Given the description of an element on the screen output the (x, y) to click on. 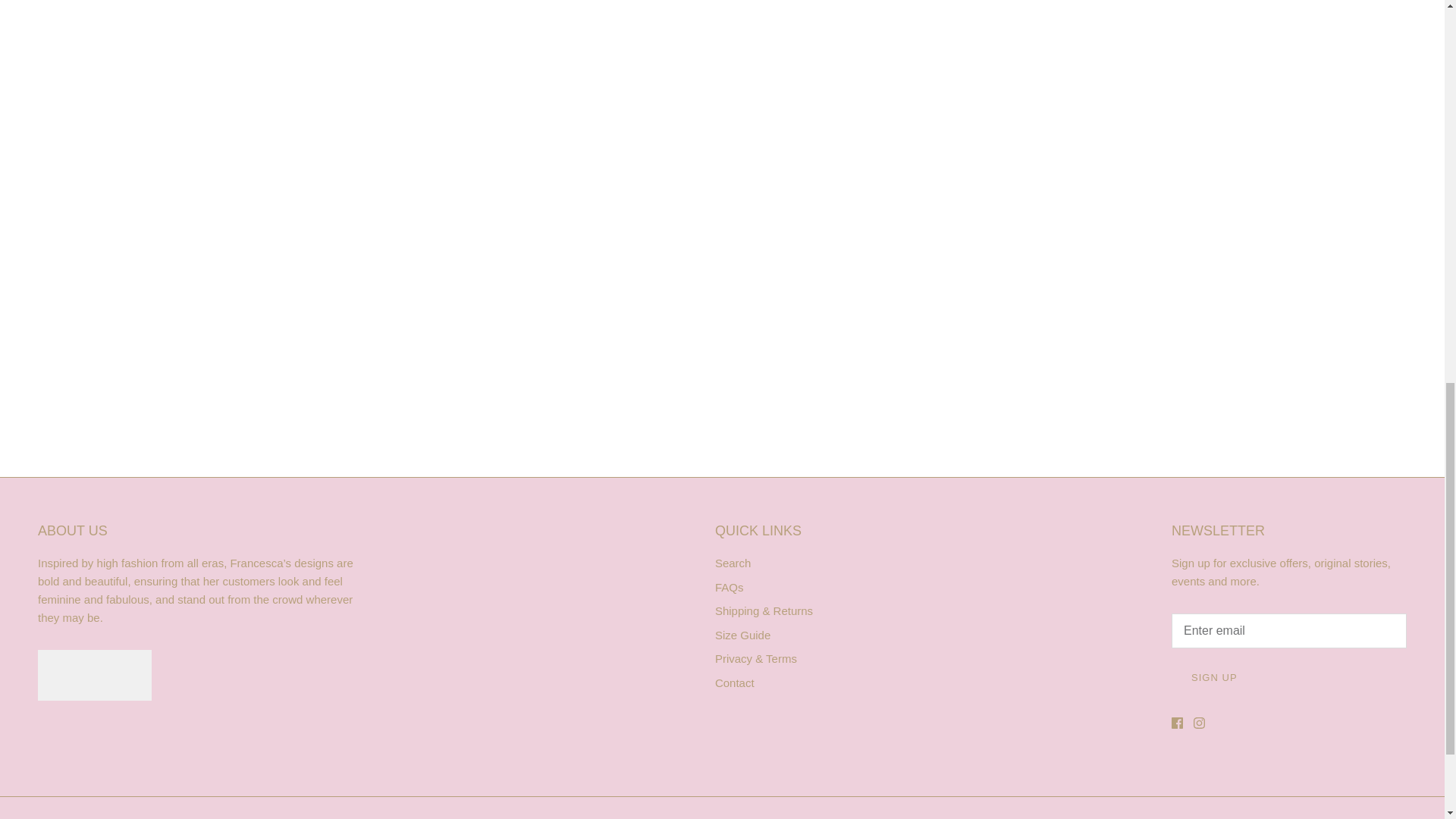
Facebook (1177, 722)
Instagram (1199, 722)
